Given the description of an element on the screen output the (x, y) to click on. 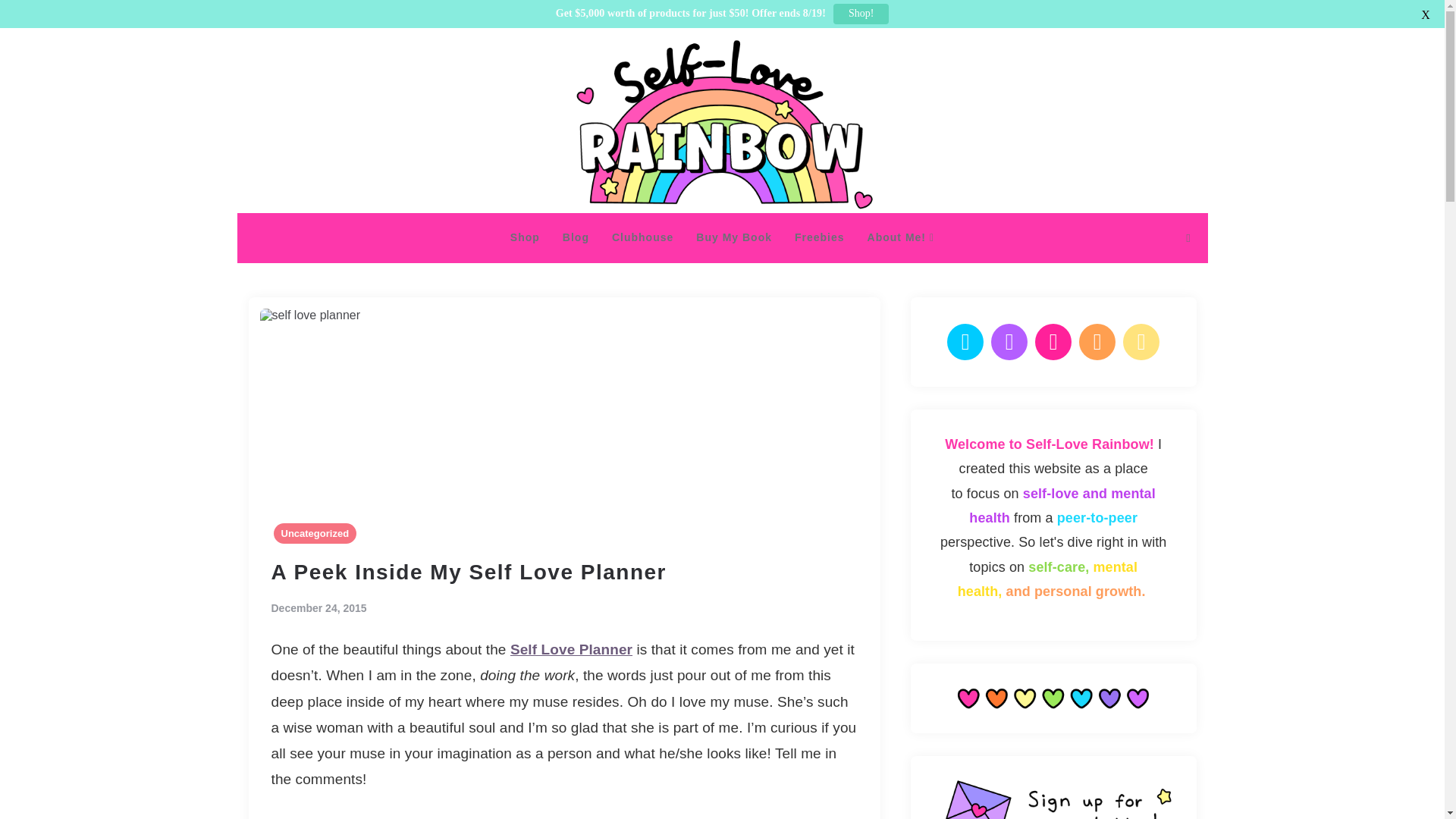
Freebies (819, 237)
Blog (575, 237)
About Me! (901, 237)
Clubhouse (641, 237)
Pinterest (1052, 341)
Shop (525, 237)
Tiktok (1141, 341)
Shopify (1097, 341)
Instagram (1008, 341)
Buy My Book (733, 237)
